Given the description of an element on the screen output the (x, y) to click on. 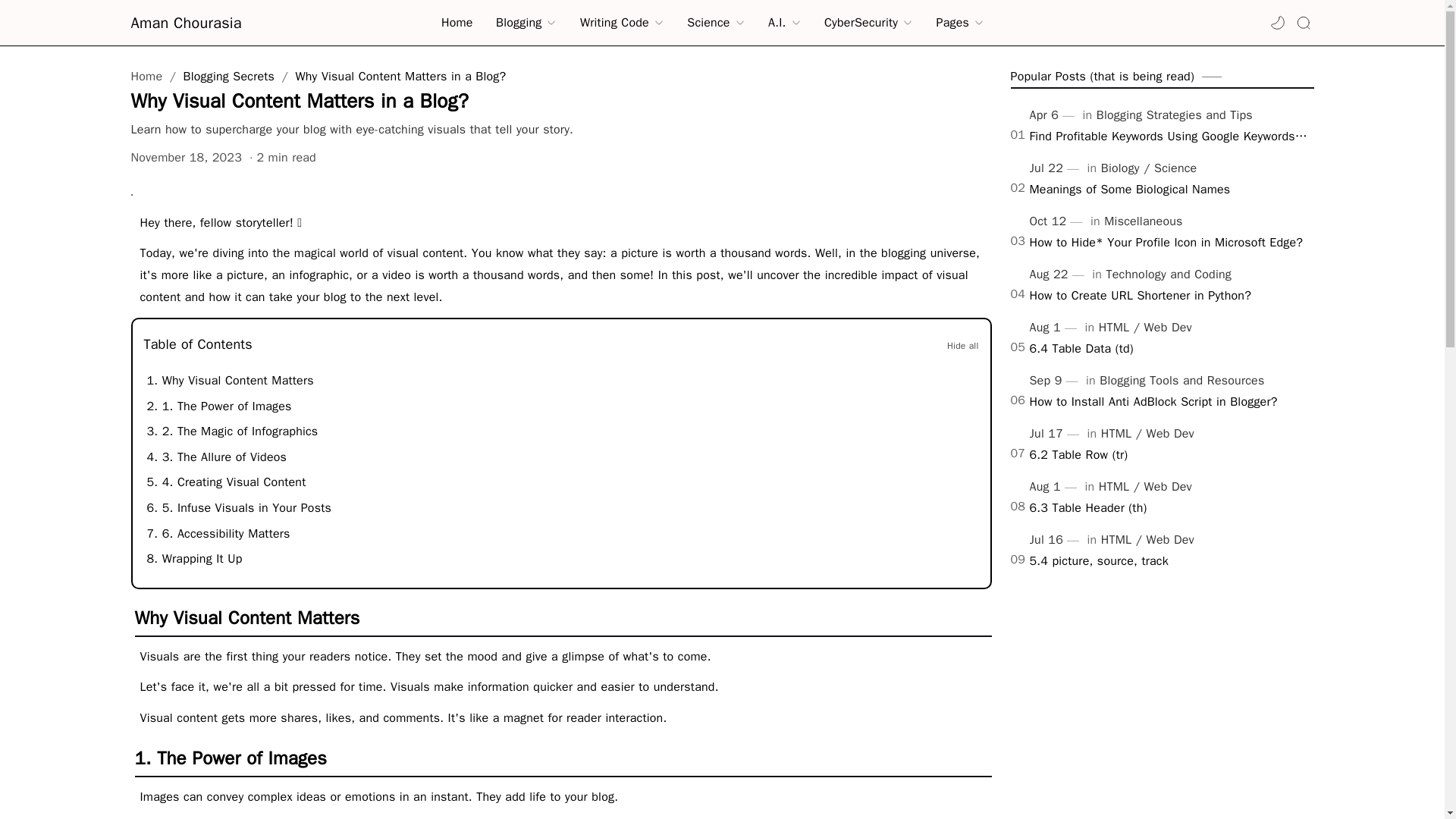
Published: November 18, 2023 (186, 157)
Published: August 1, 2024 (1055, 328)
Published: July 17, 2024 (1056, 434)
Published: July 22, 2024 (1056, 169)
Home (457, 23)
Published: August 1, 2024 (1055, 487)
Published: October 12, 2023 (1057, 222)
Published: September 9, 2021 (1055, 381)
Published: August 22, 2021 (1058, 275)
Aman Chourasia (206, 22)
Published: April 6, 2023 (1053, 116)
Published: July 16, 2024 (1056, 540)
